Given the description of an element on the screen output the (x, y) to click on. 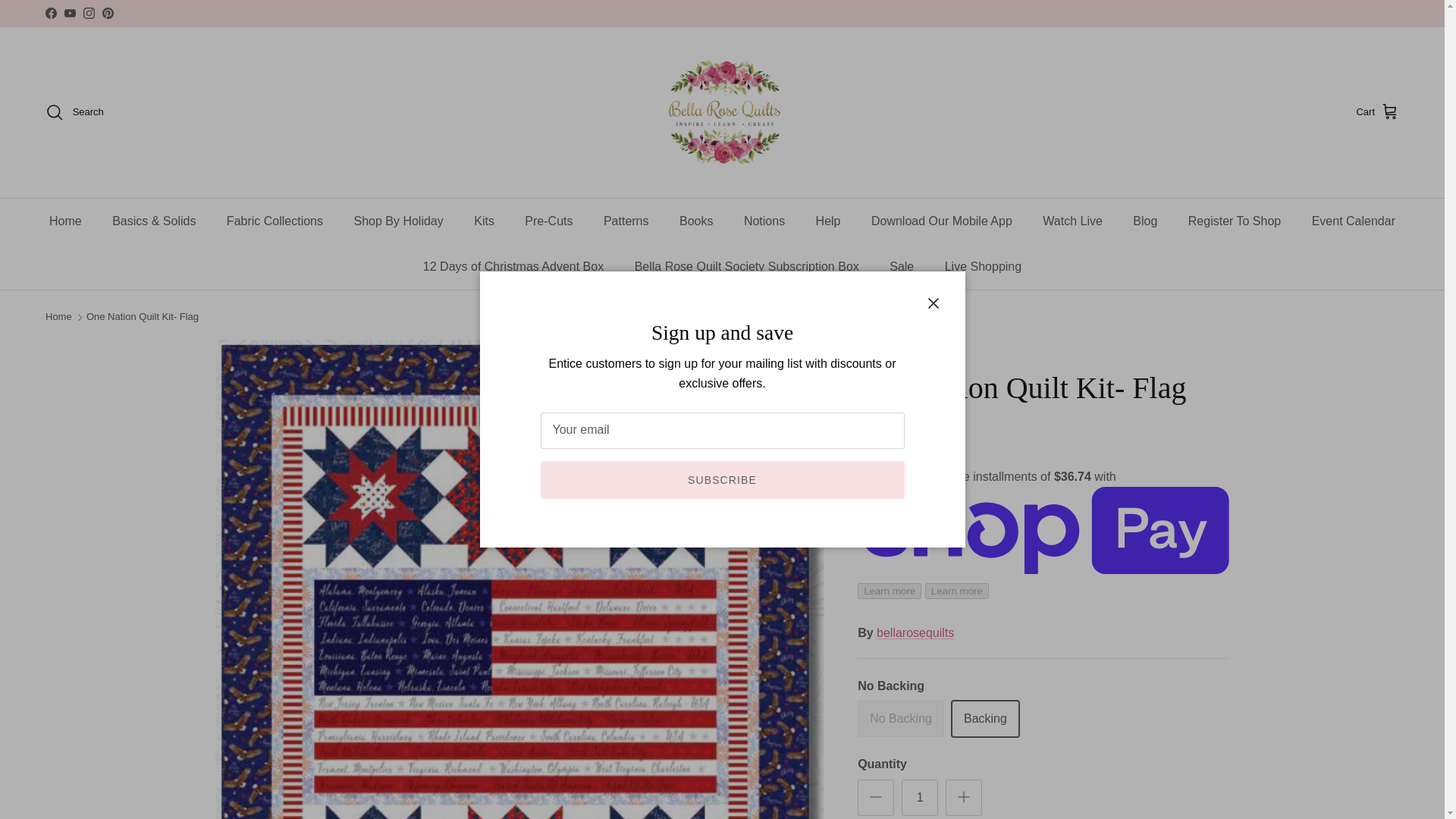
Home (65, 221)
bellarosequilts on Pinterest (107, 12)
Pinterest (107, 12)
bellarosequilts (722, 112)
Cart (1377, 112)
bellarosequilts on Instagram (88, 12)
YouTube (69, 12)
bellarosequilts on Facebook (50, 12)
Search (74, 112)
Facebook (50, 12)
bellarosequilts on YouTube (69, 12)
Sold out (900, 719)
1 (919, 797)
Fabric Collections (274, 221)
Instagram (88, 12)
